Given the description of an element on the screen output the (x, y) to click on. 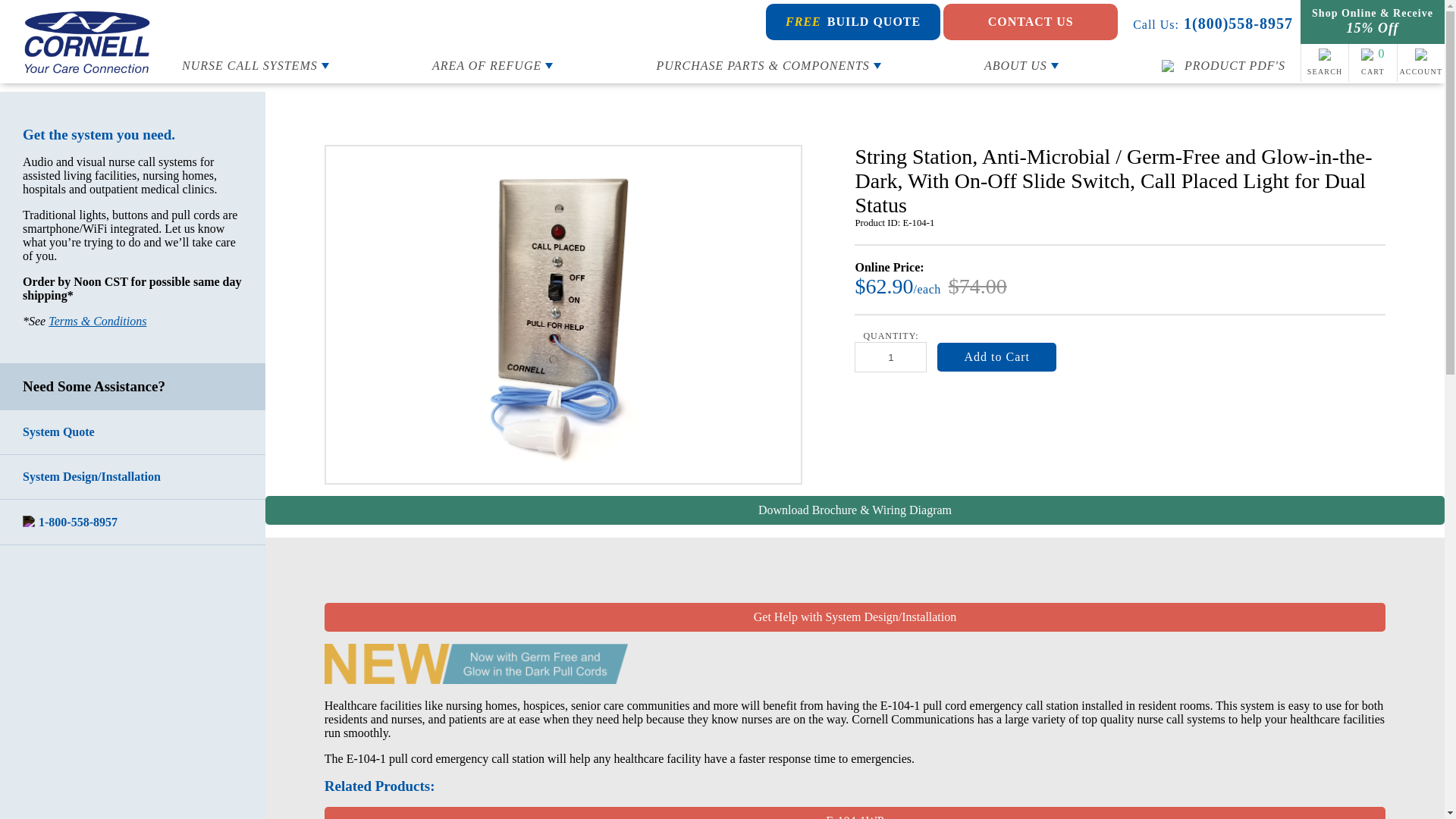
CONTACT US (1030, 22)
Add to Cart (997, 357)
1 (890, 357)
AREA OF REFUGE (492, 65)
NURSE CALL SYSTEMS (255, 65)
FREE BUILD QUOTE (852, 22)
